Given the description of an element on the screen output the (x, y) to click on. 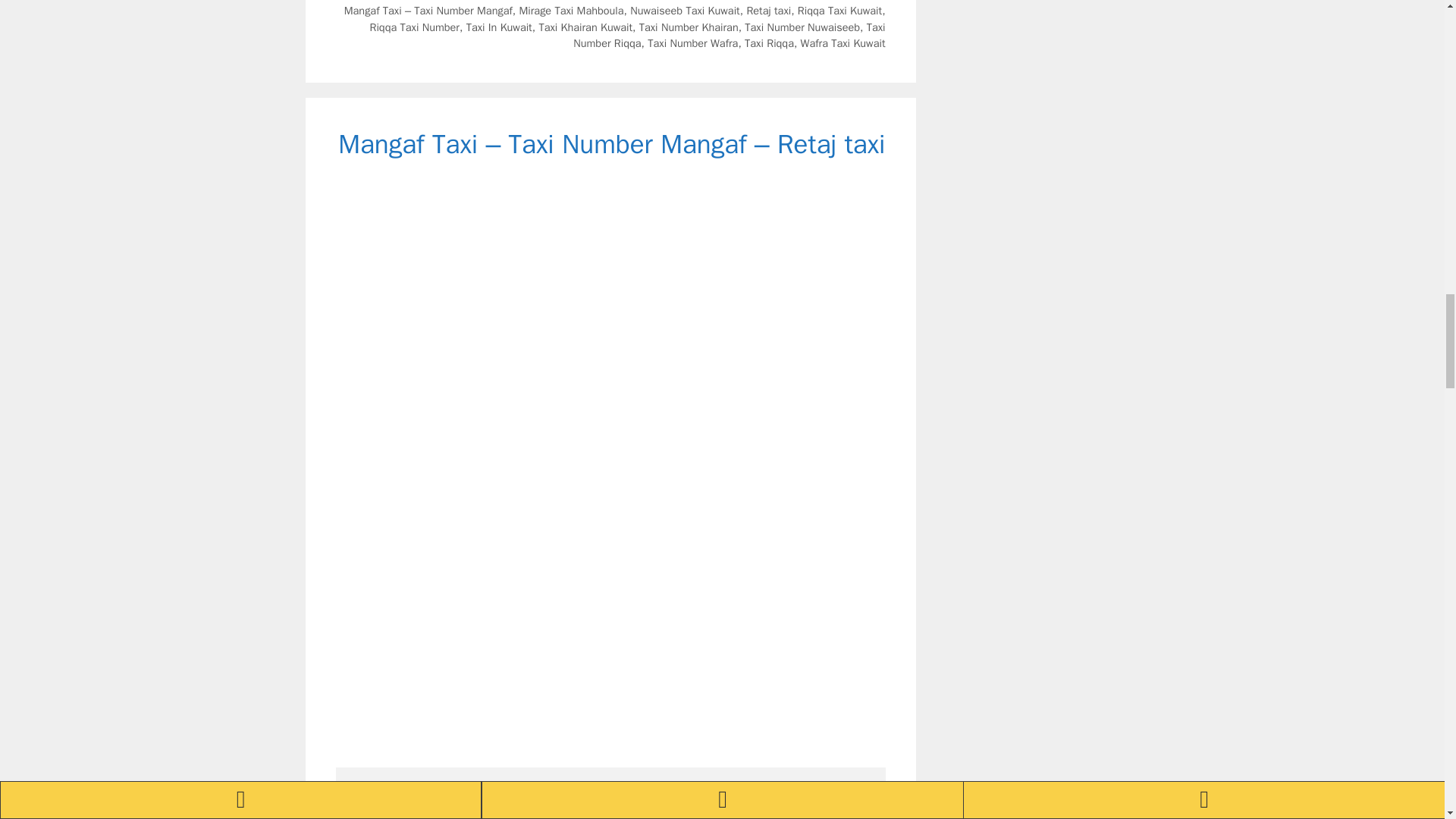
kuwait Taxi (539, 0)
